Given the description of an element on the screen output the (x, y) to click on. 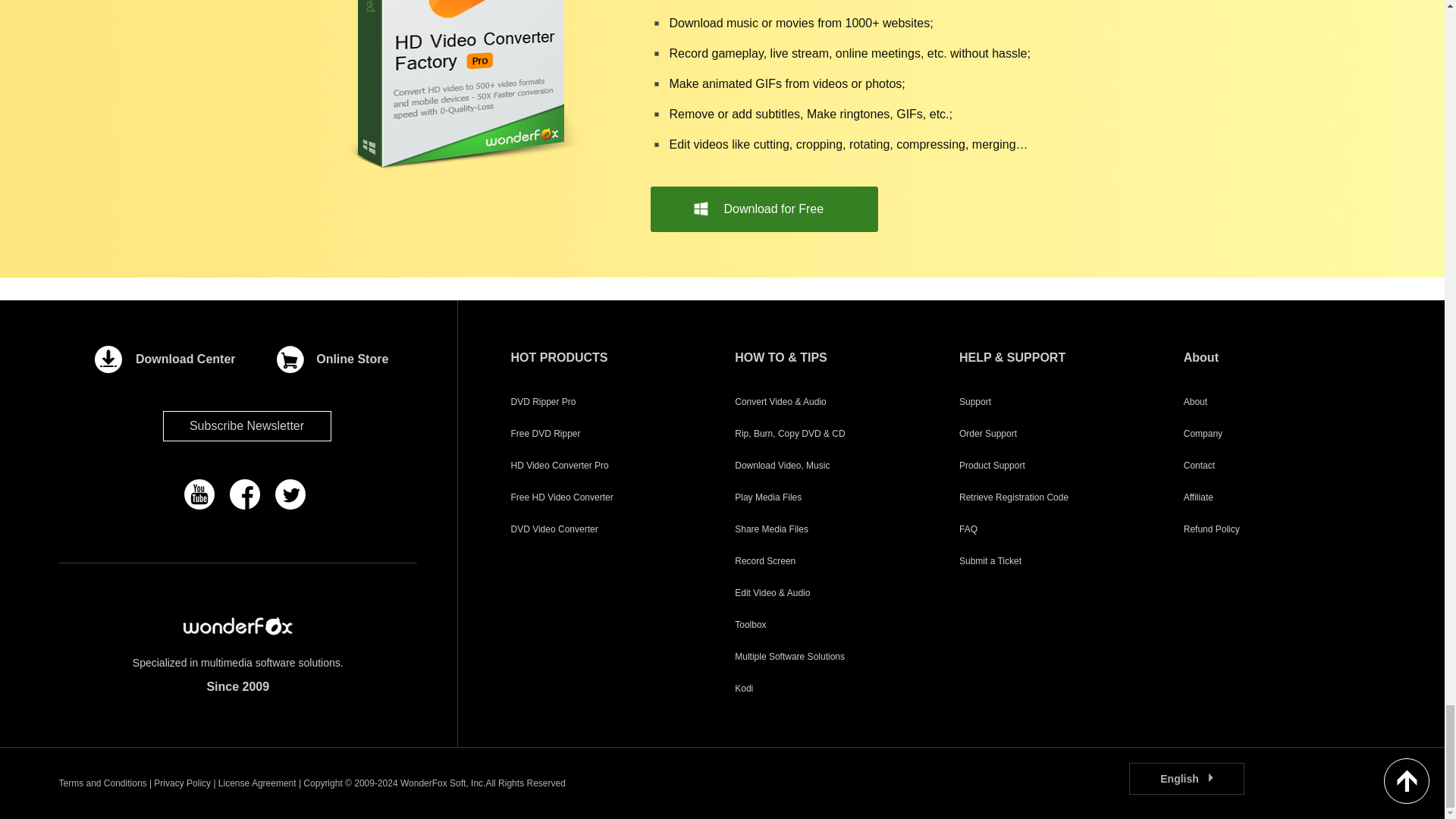
Twitter (290, 494)
facebook (245, 494)
YouTube (199, 494)
WonderFox (237, 625)
